Given the description of an element on the screen output the (x, y) to click on. 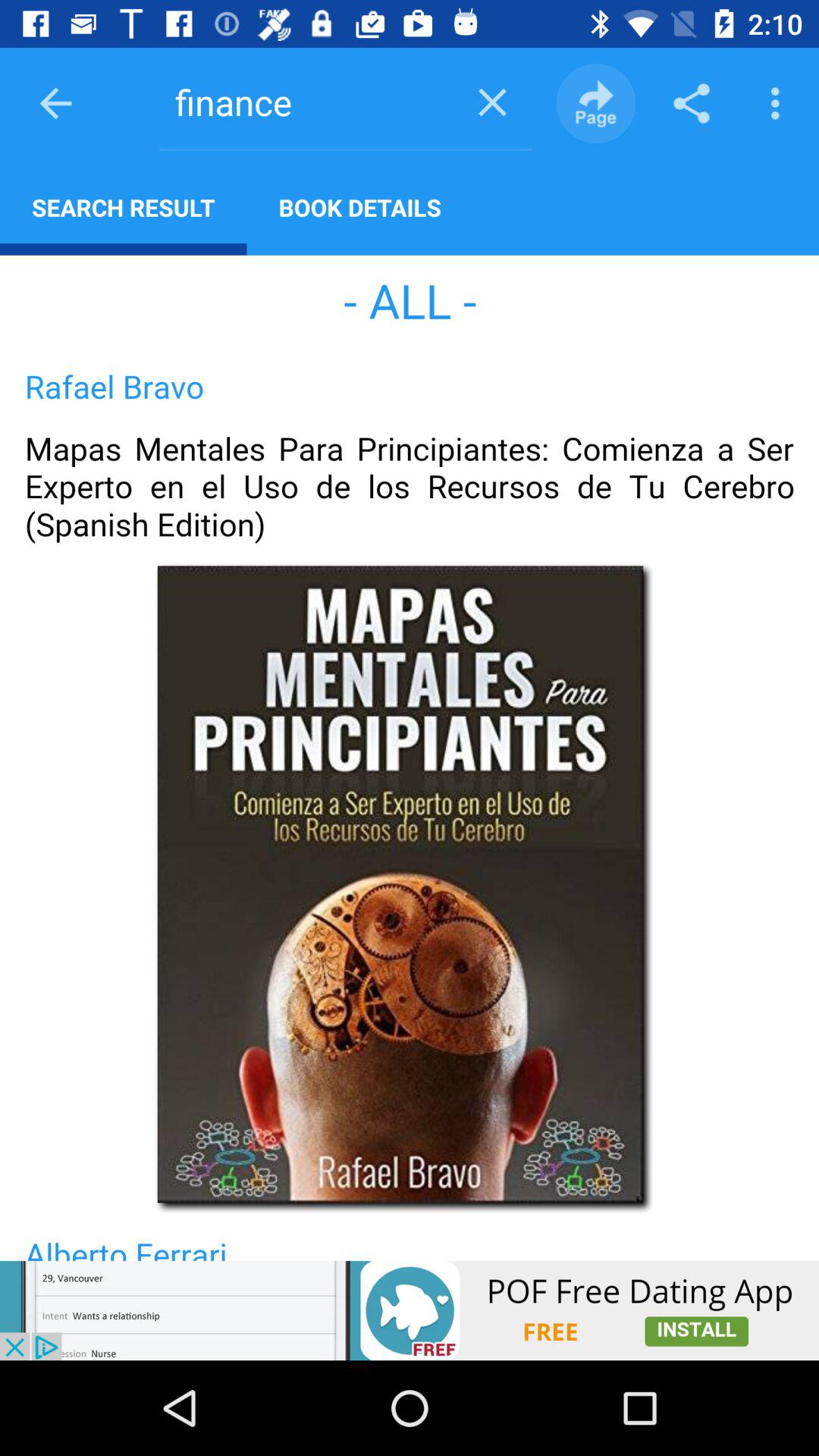
advertisement (409, 1310)
